Given the description of an element on the screen output the (x, y) to click on. 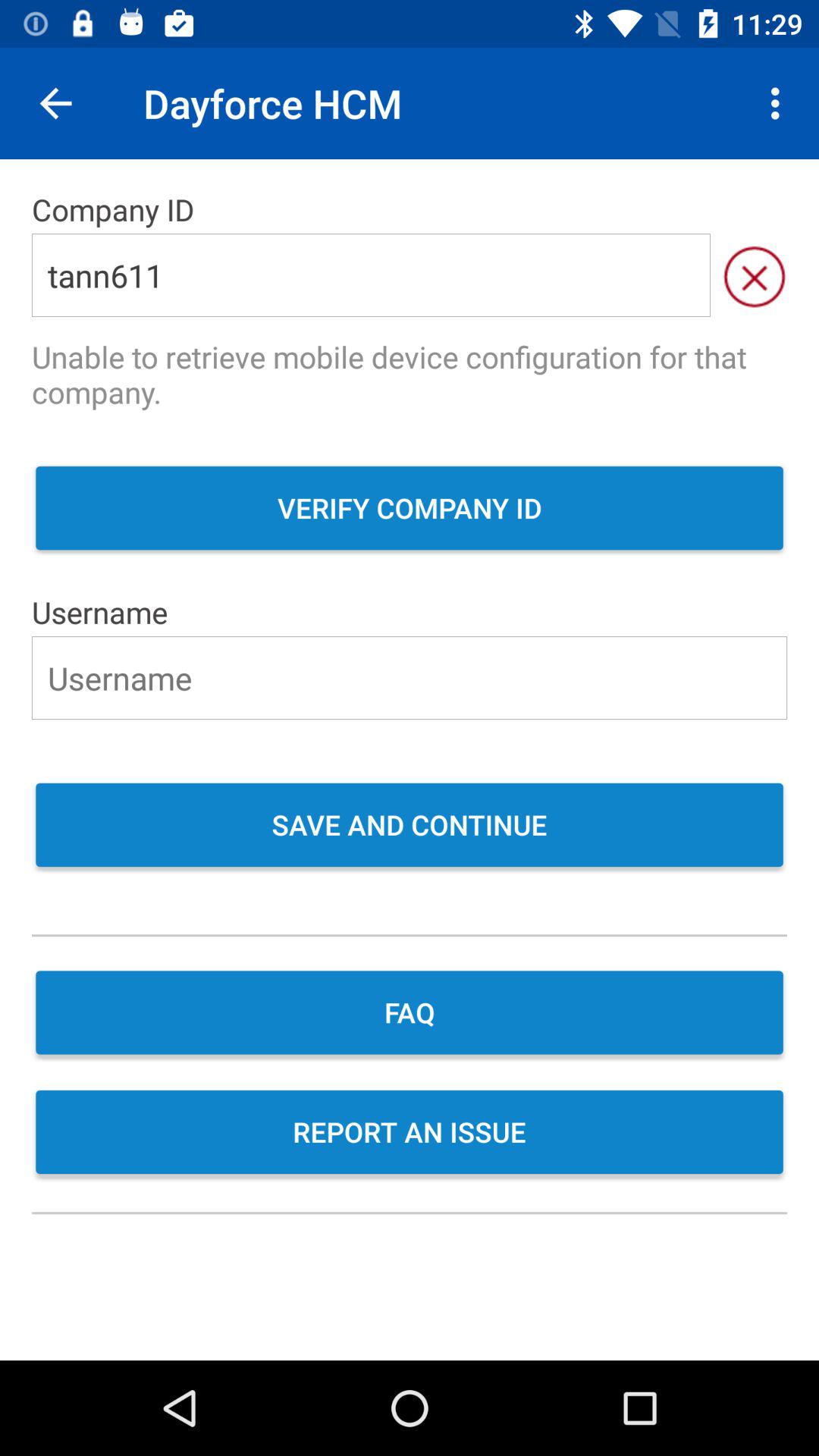
choose the item next to tann611 (753, 274)
